Given the description of an element on the screen output the (x, y) to click on. 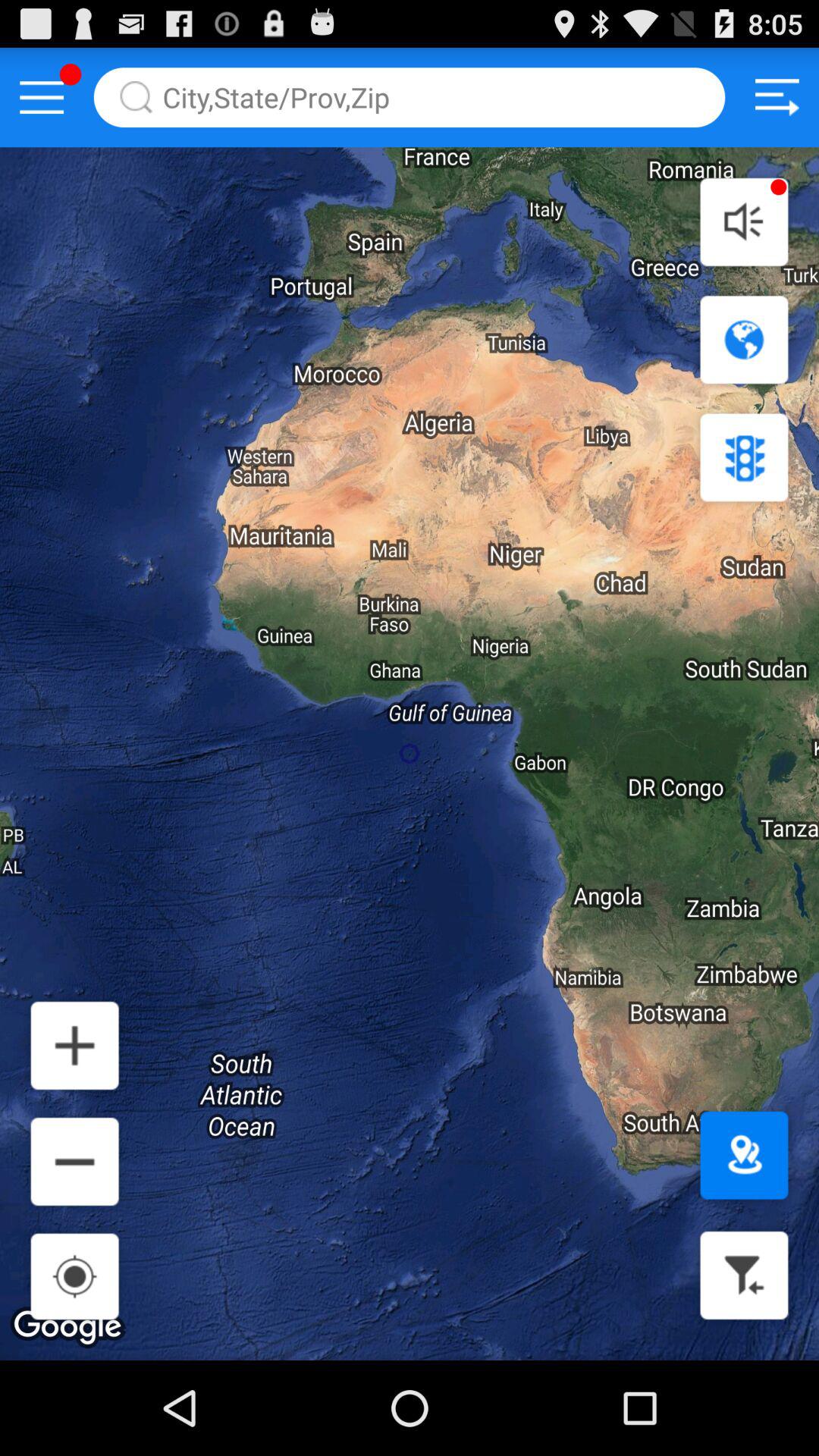
filter button (744, 1275)
